Given the description of an element on the screen output the (x, y) to click on. 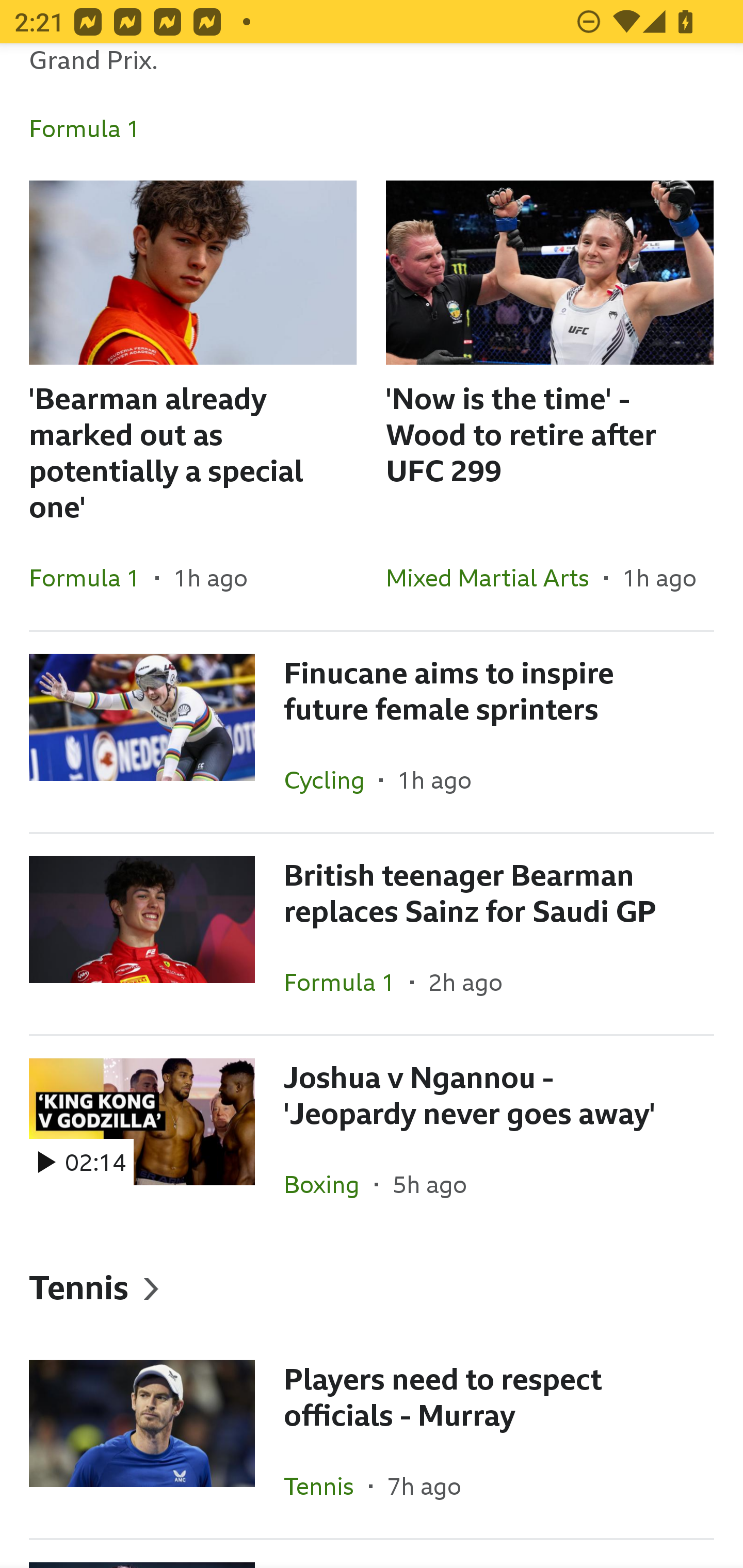
Tennis, Heading Tennis    (371, 1286)
